Given the description of an element on the screen output the (x, y) to click on. 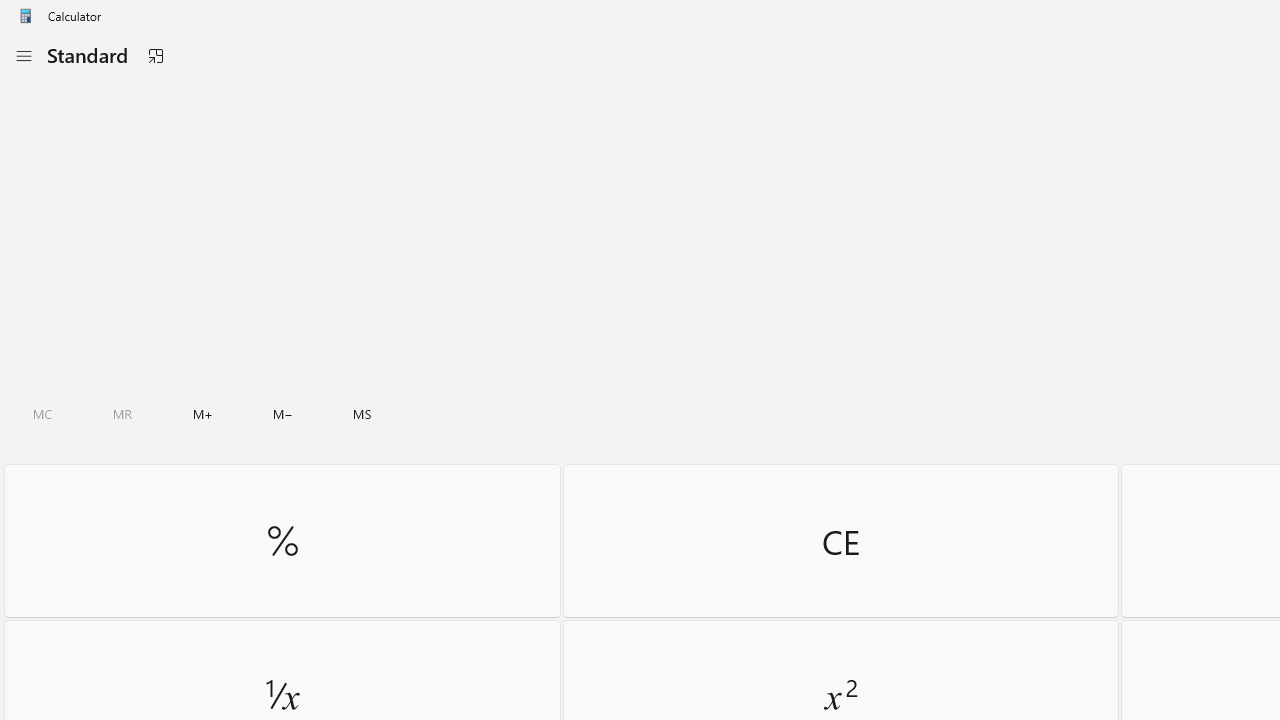
Memory add (202, 414)
Memory store (362, 414)
Clear all memory (42, 414)
Memory recall (123, 414)
Clear entry (840, 540)
Percent (281, 540)
Keep on top (155, 56)
Open Navigation (23, 56)
Memory subtract (283, 414)
